Given the description of an element on the screen output the (x, y) to click on. 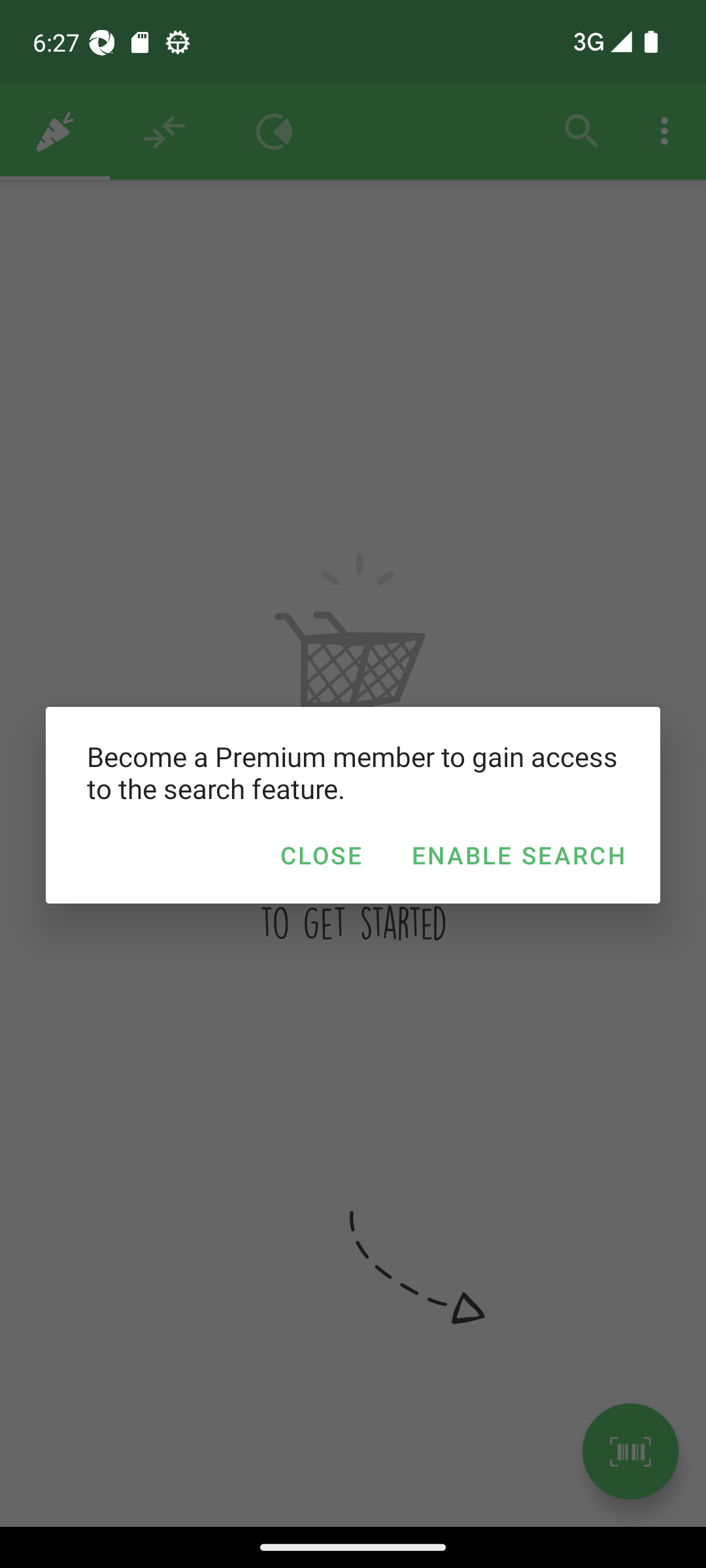
CLOSE (320, 854)
ENABLE SEARCH (517, 854)
